Given the description of an element on the screen output the (x, y) to click on. 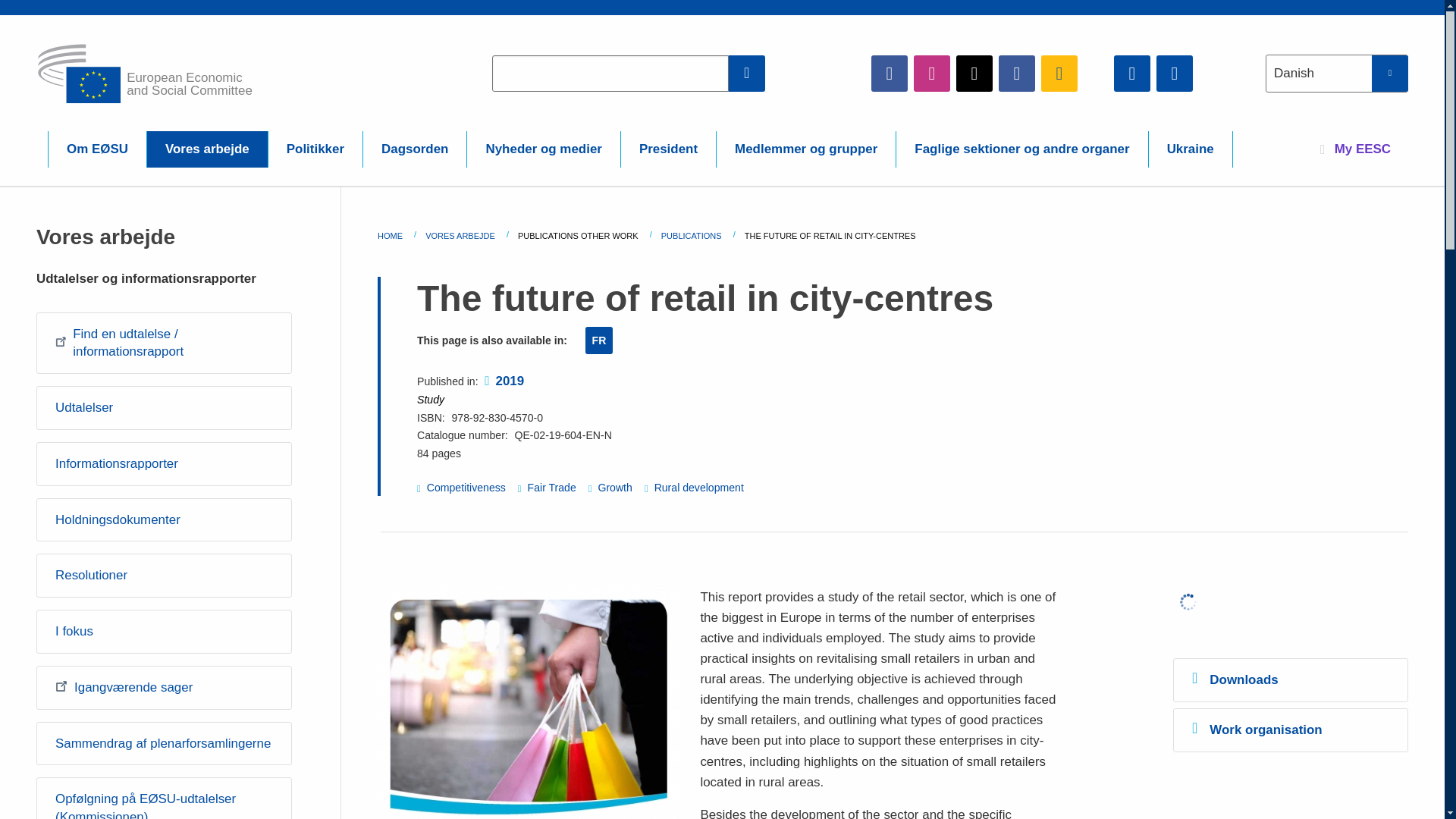
Search EESC Website (747, 72)
My EESC (1355, 149)
